Given the description of an element on the screen output the (x, y) to click on. 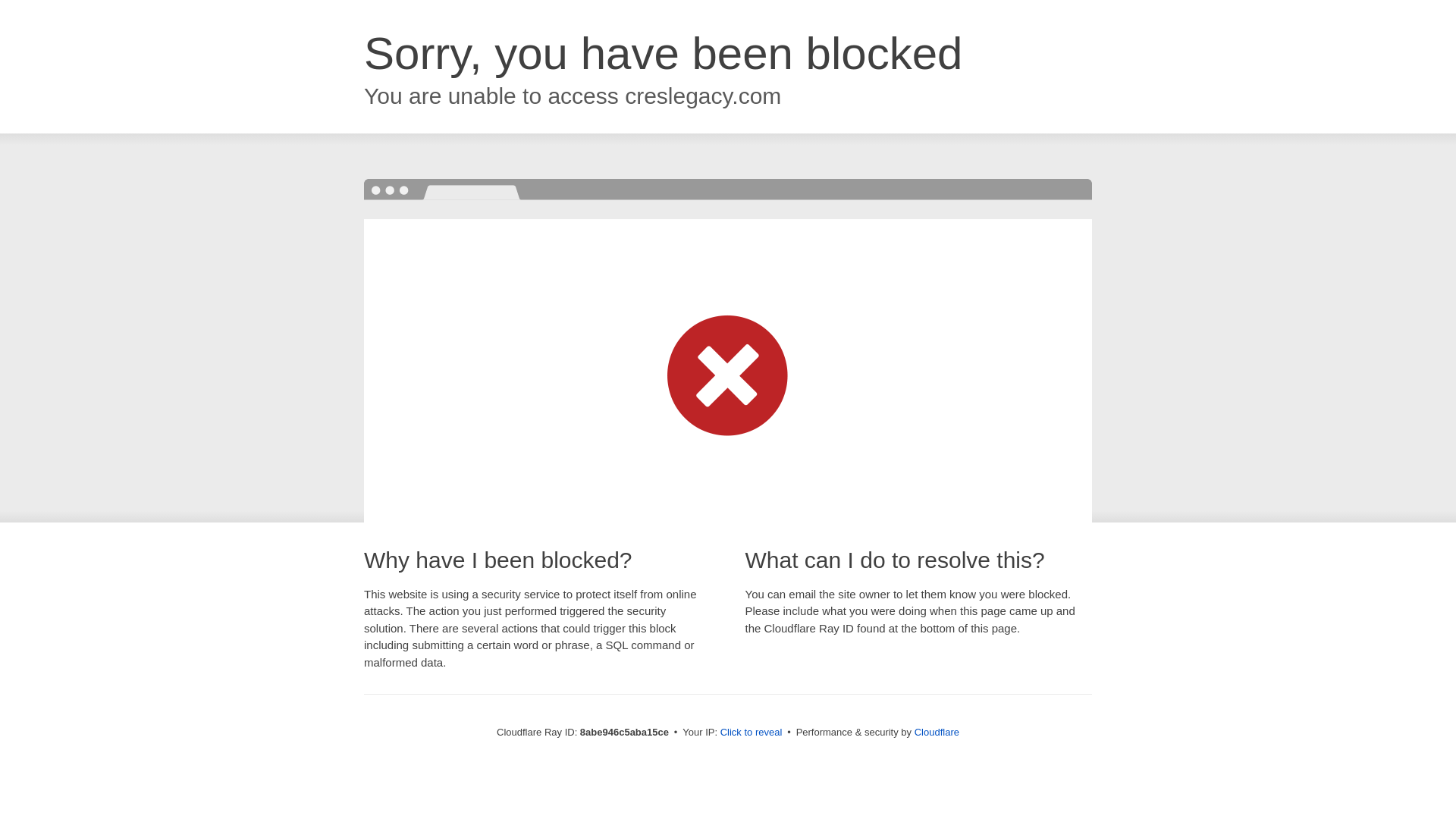
Click to reveal (751, 732)
Cloudflare (936, 731)
